Given the description of an element on the screen output the (x, y) to click on. 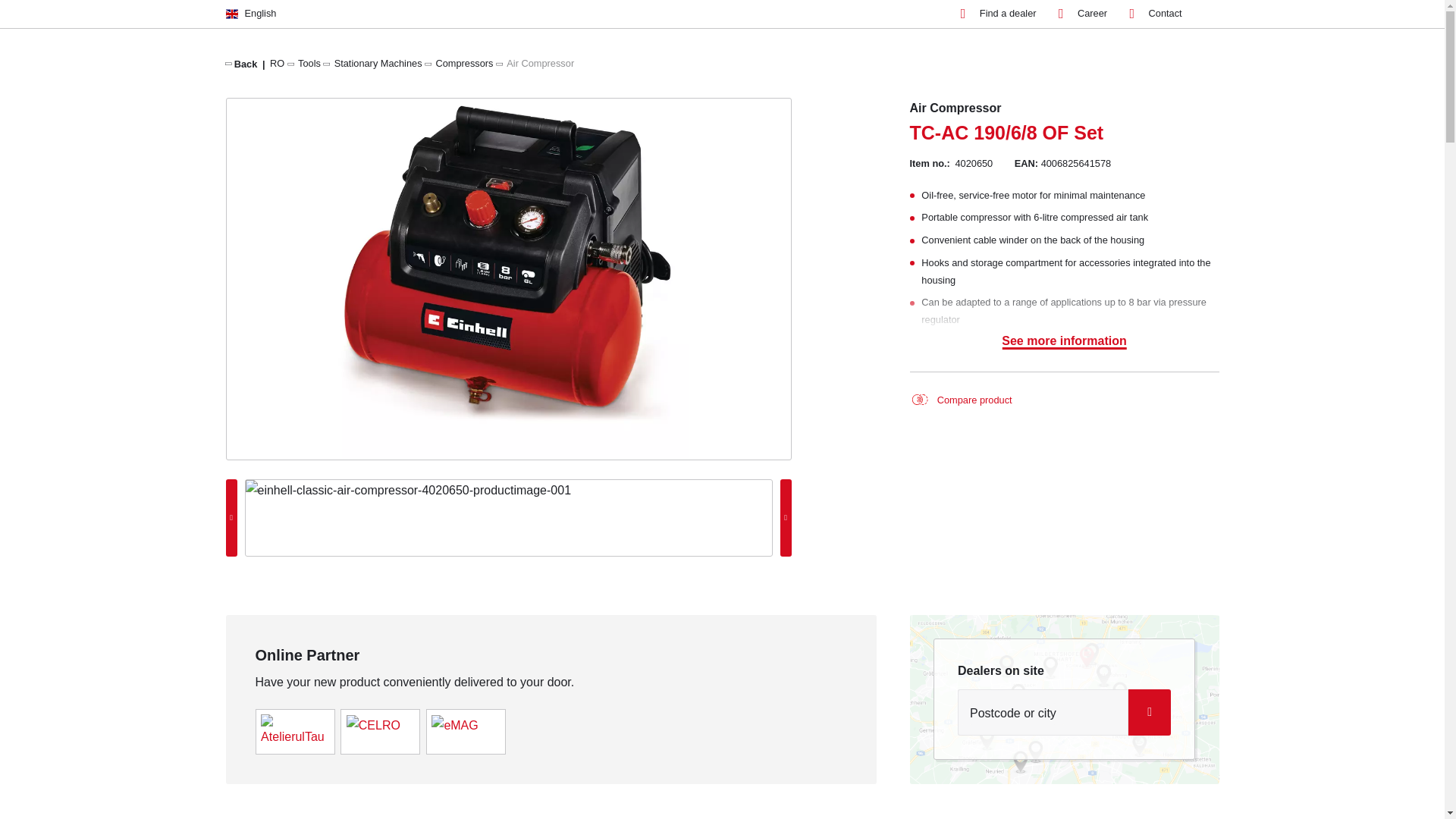
AtelierulTau (294, 730)
Stationary Machines (378, 62)
Find a dealer (998, 13)
Compressors (464, 62)
Career (1082, 13)
eMAG (453, 724)
RO (276, 62)
Contact (1155, 13)
Tools (309, 62)
CEL.RO (373, 724)
